Given the description of an element on the screen output the (x, y) to click on. 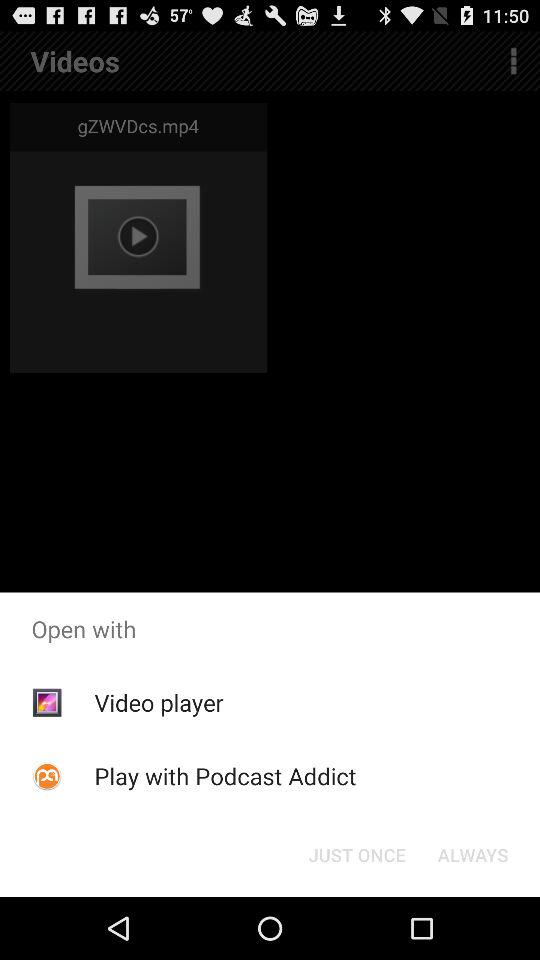
launch button above just once icon (225, 775)
